Given the description of an element on the screen output the (x, y) to click on. 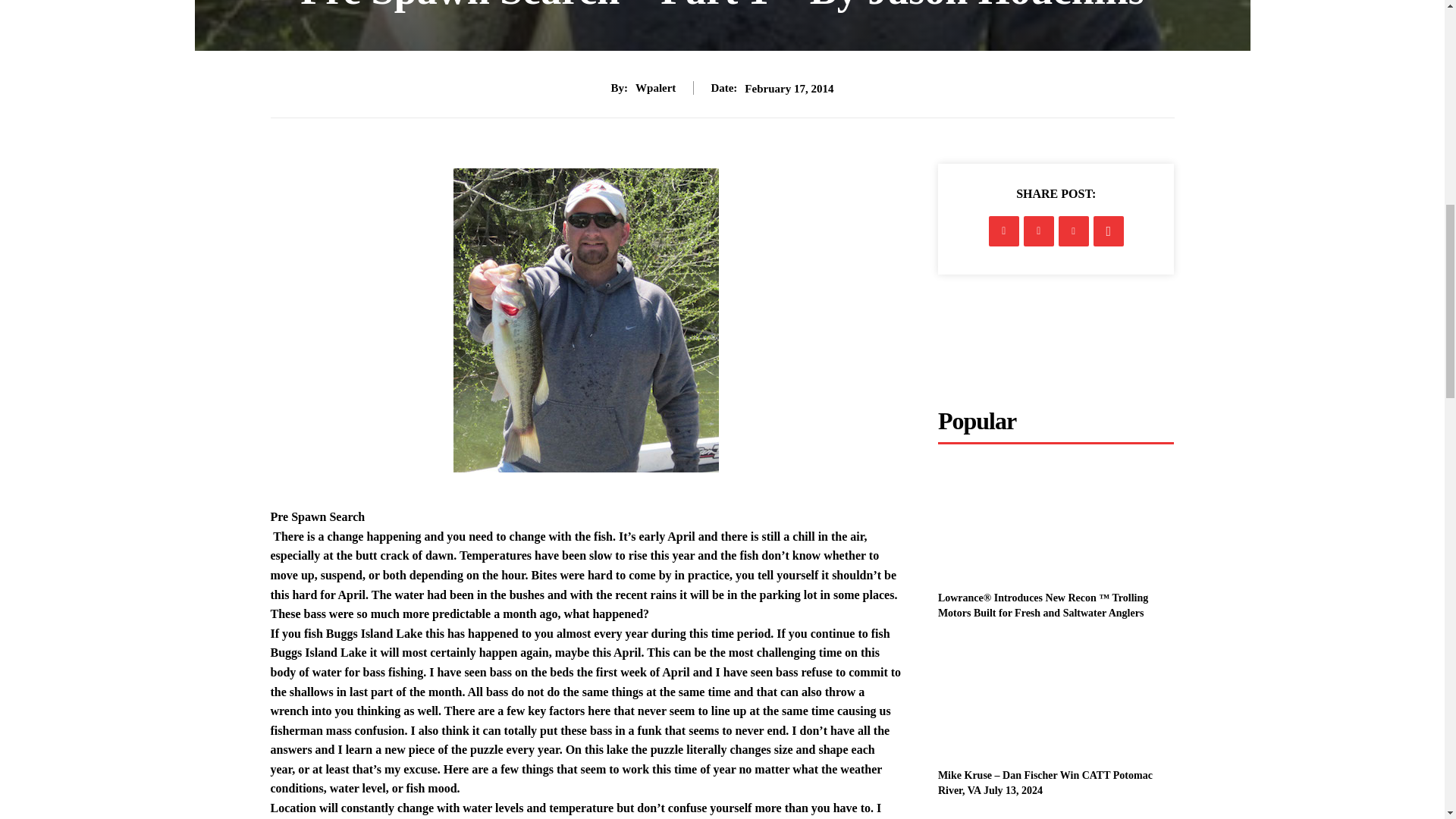
Twitter (1038, 231)
Facebook (1003, 231)
Pinterest (1073, 231)
Wpalert (654, 88)
